Given the description of an element on the screen output the (x, y) to click on. 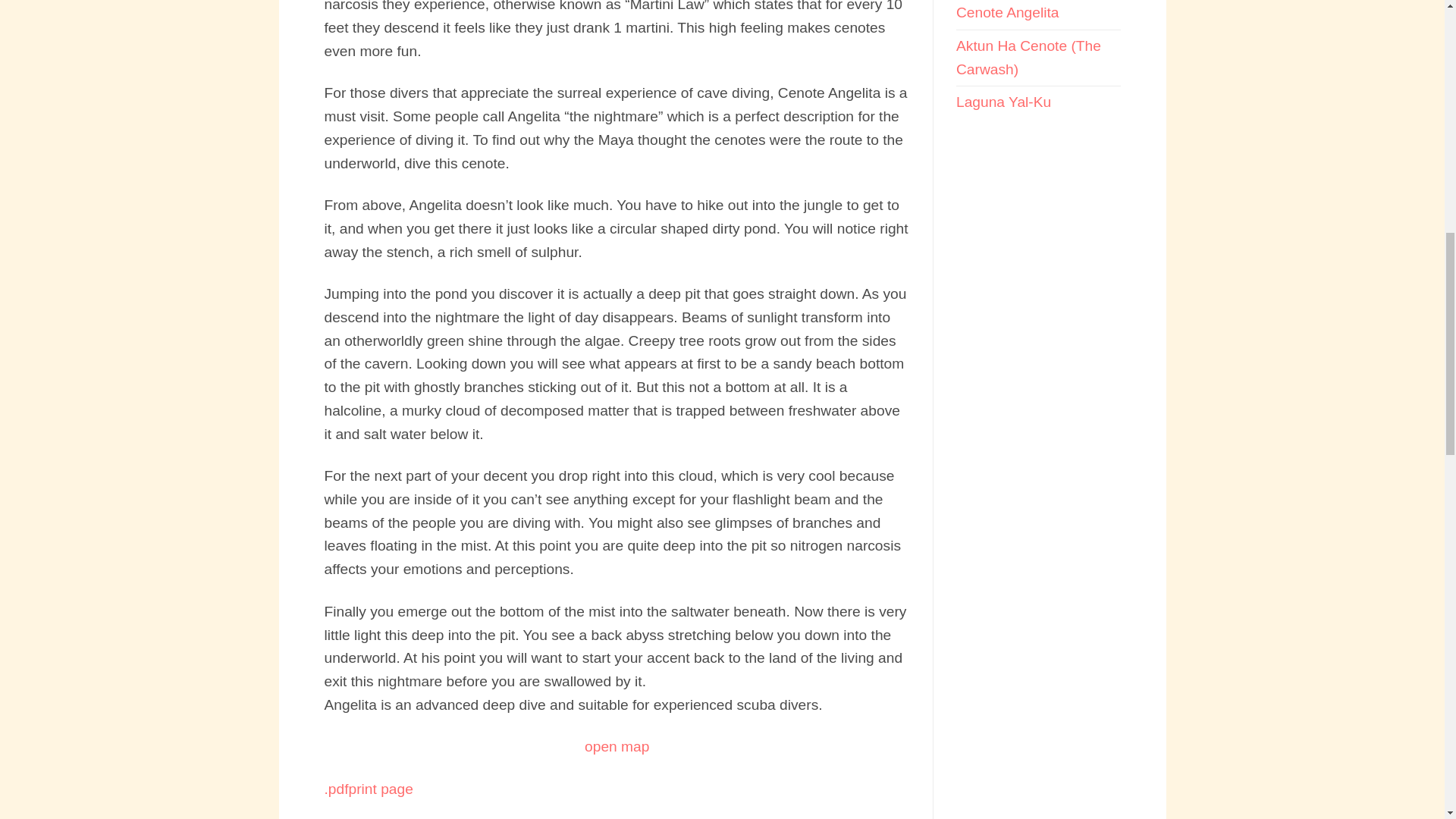
open map (617, 746)
print page (381, 788)
.pdf (336, 788)
